Given the description of an element on the screen output the (x, y) to click on. 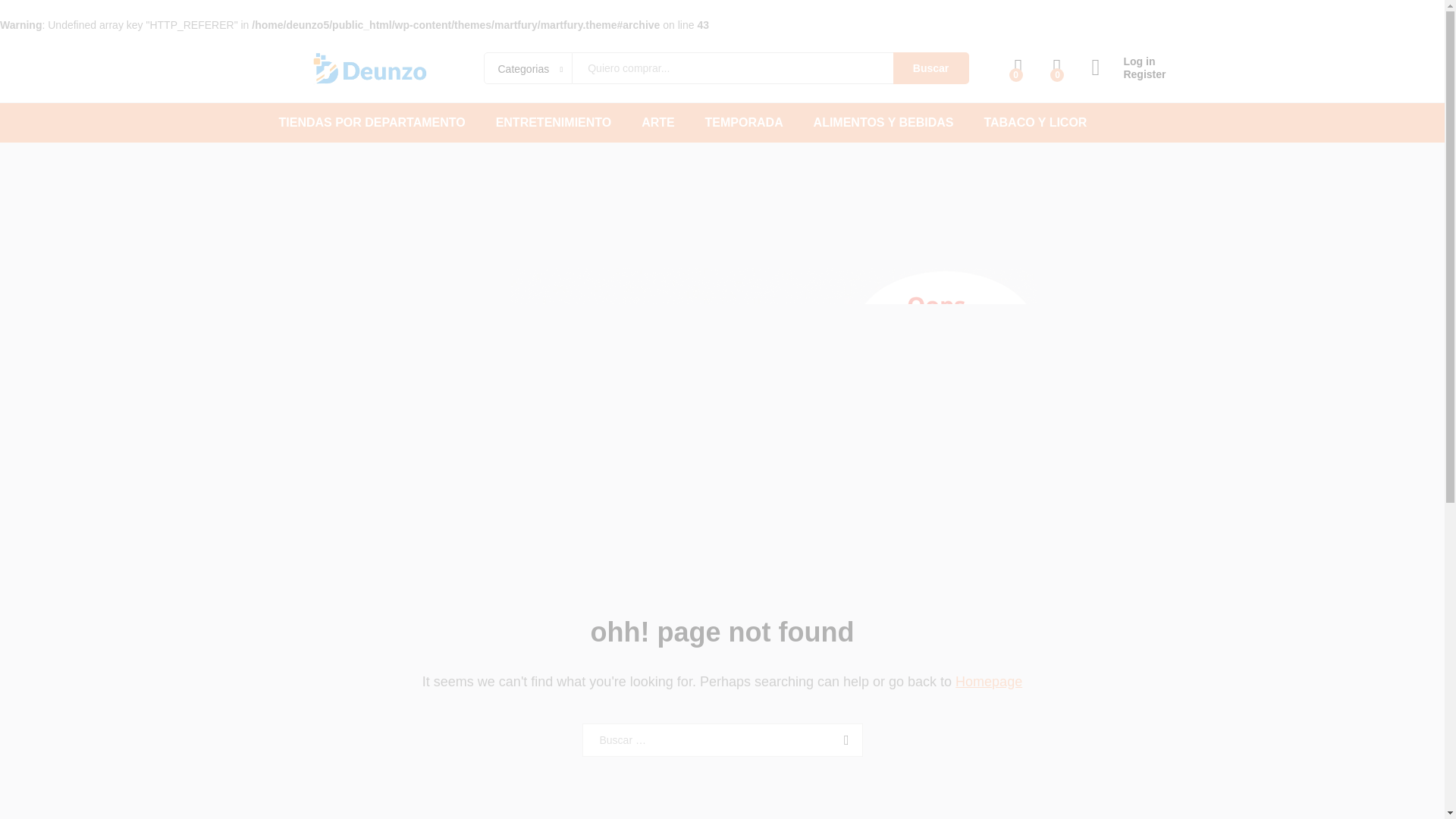
Buscar (843, 739)
Log in (1128, 61)
Buscar (931, 68)
ENTRETENIMIENTO (553, 122)
Register (1128, 74)
TIENDAS POR DEPARTAMENTO (372, 122)
Buscar (843, 739)
